Given the description of an element on the screen output the (x, y) to click on. 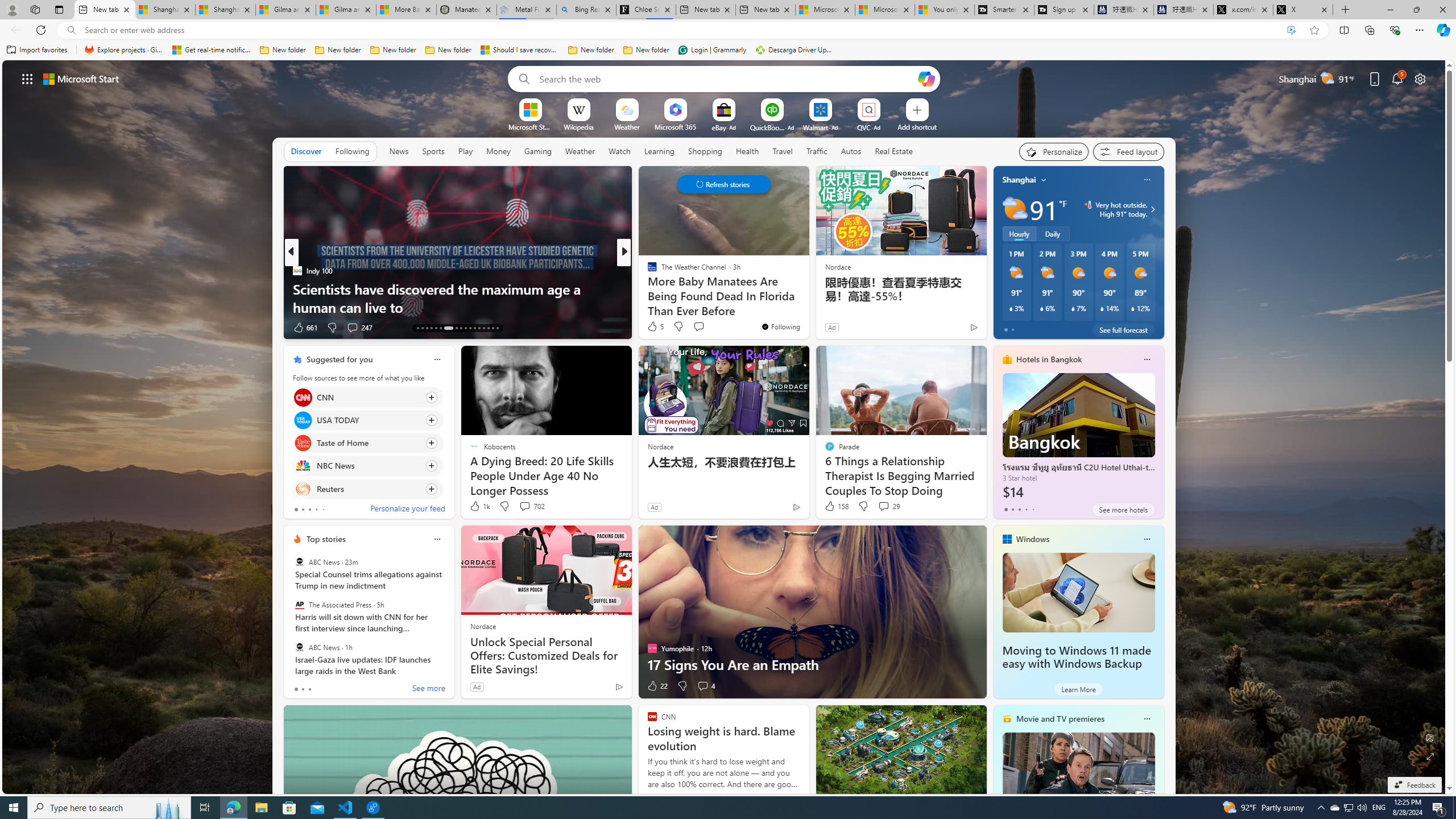
AutomationID: tab-25 (478, 328)
Moving to Windows 11 made easy with Windows Backup (1076, 657)
Add a site (916, 126)
Click to follow source NBC News (367, 465)
Real Estate (893, 151)
App launcher (27, 78)
View comments 247 Comment (359, 327)
AutomationID: tab-40 (488, 328)
View comments 42 Comment (6, 327)
tab-1 (302, 689)
